Given the description of an element on the screen output the (x, y) to click on. 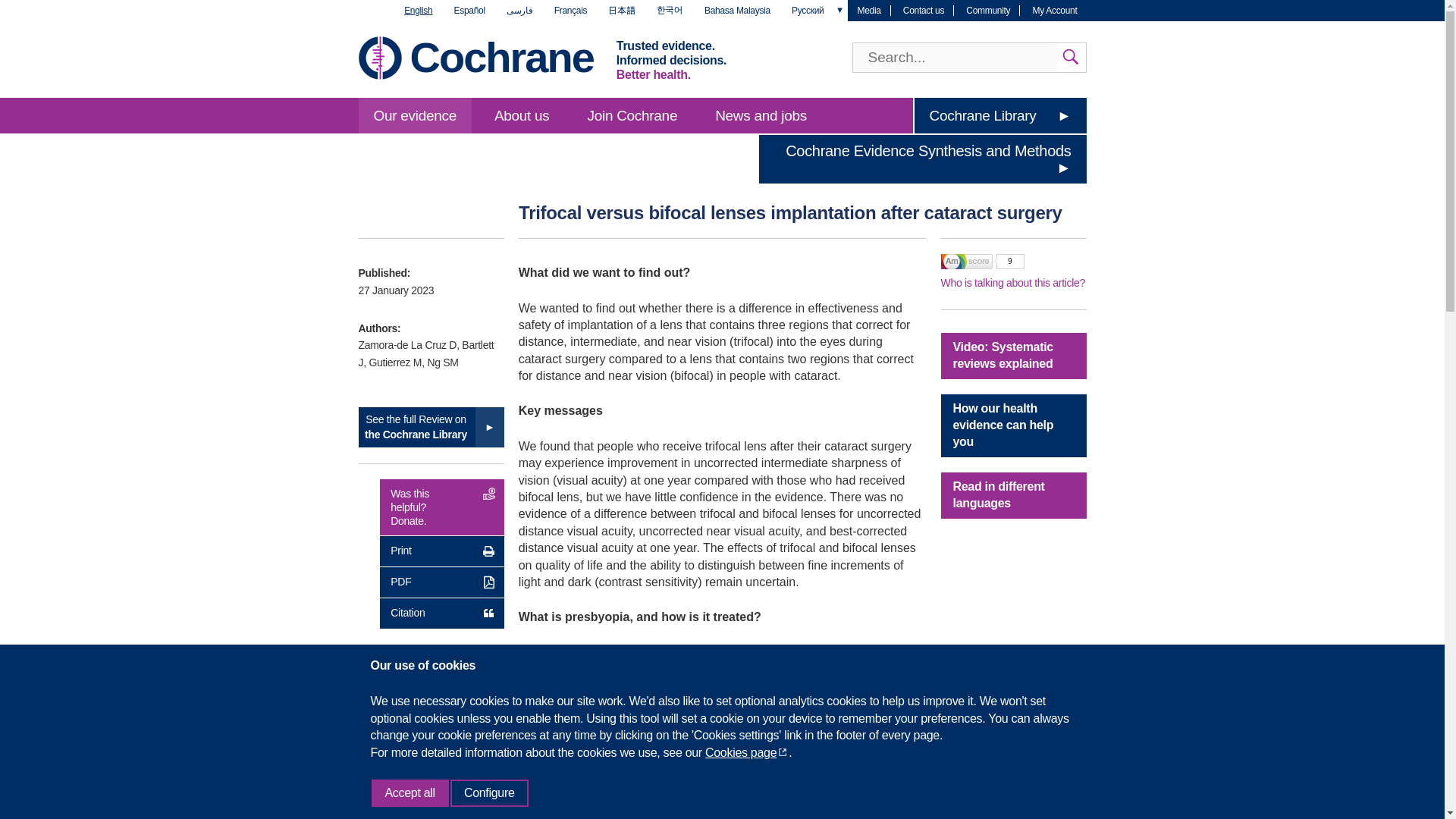
Media (868, 9)
Search (1071, 57)
Community (988, 9)
My Account (1054, 9)
Home (500, 57)
Join Cochrane (632, 115)
How our health evidence can help you (1013, 425)
About us (521, 115)
Bahasa Malaysia (736, 10)
Home (379, 57)
Our evidence (414, 115)
Cochrane (500, 57)
Who is talking about this article? (1012, 282)
Read in different languages (1013, 495)
